Given the description of an element on the screen output the (x, y) to click on. 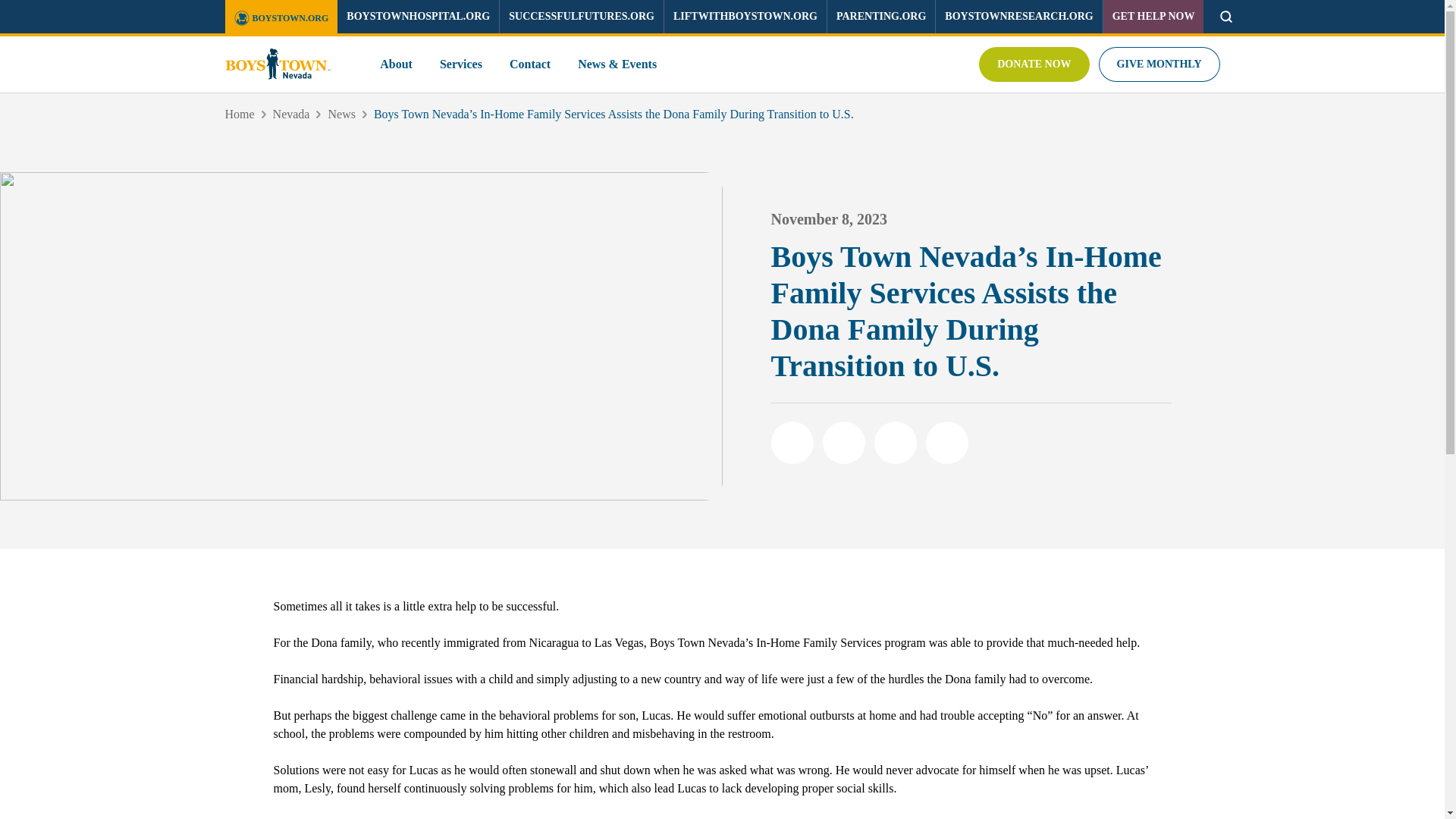
BOYSTOWNHOSPITAL.ORG (418, 16)
PARENTING.ORG (880, 16)
Donate Now (1033, 63)
News (341, 113)
BOYSTOWN.ORG (280, 18)
Nevada (291, 113)
Services (460, 64)
Home (238, 113)
GET HELP NOW (1153, 16)
GIVE MONTHLY (1159, 63)
SUCCESSFULFUTURES.ORG (581, 16)
BOYSTOWNRESEARCH.ORG (1018, 16)
Contact (529, 64)
About (396, 64)
Get Help Now (1153, 16)
